Given the description of an element on the screen output the (x, y) to click on. 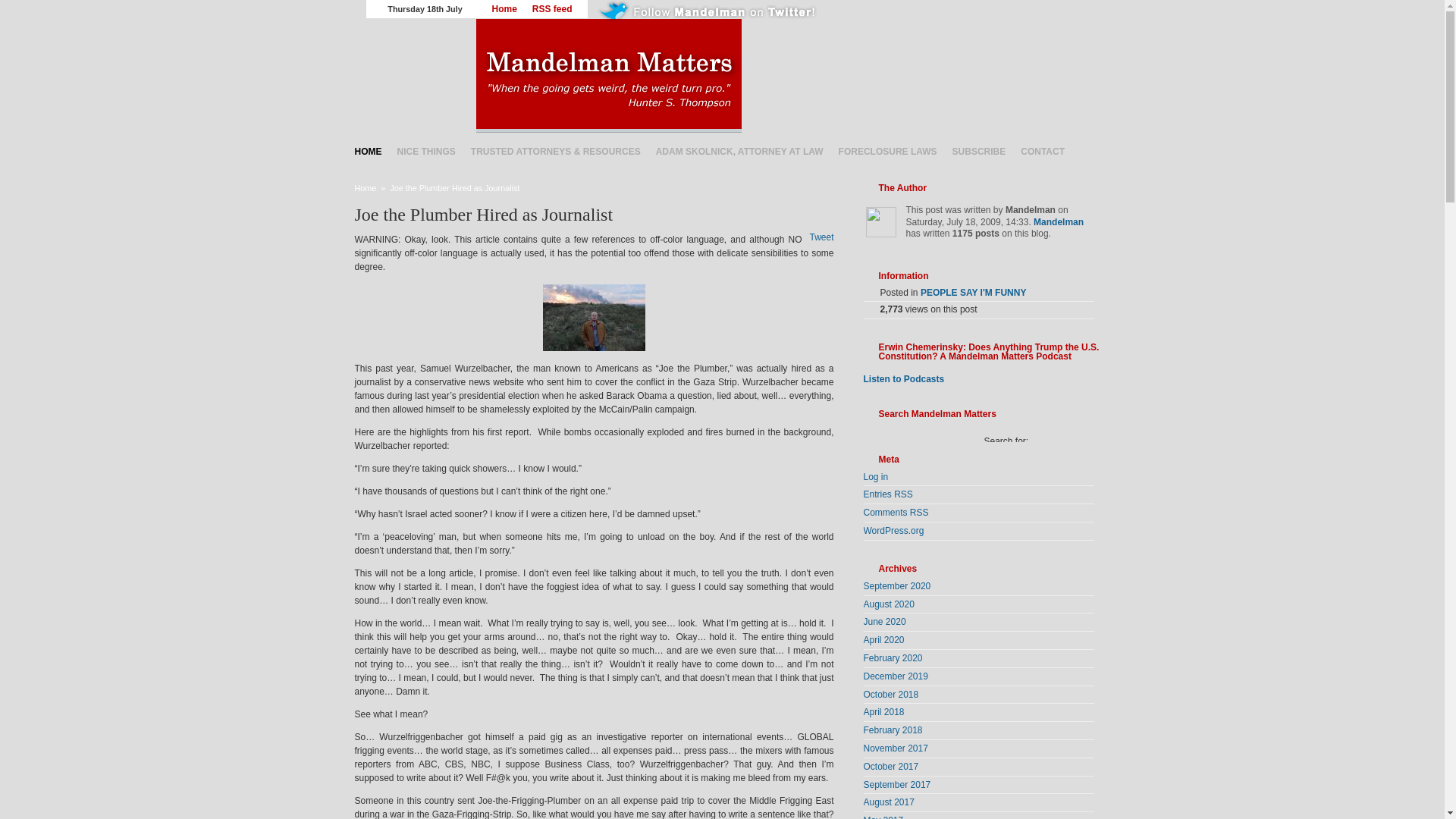
Mandelman (1058, 222)
Search (1000, 468)
Really Simple Syndication (902, 493)
CONTACT (1042, 151)
Home (366, 187)
SUBSCRIBE (978, 151)
Tweet (820, 236)
HOME (368, 151)
WordPress.org (893, 530)
PEOPLE SAY I'M FUNNY (973, 292)
Mandelman Matters (781, 75)
September 2020 (896, 585)
RSS feed (552, 9)
FORECLOSURE LAWS (887, 151)
images-30 (593, 317)
